Given the description of an element on the screen output the (x, y) to click on. 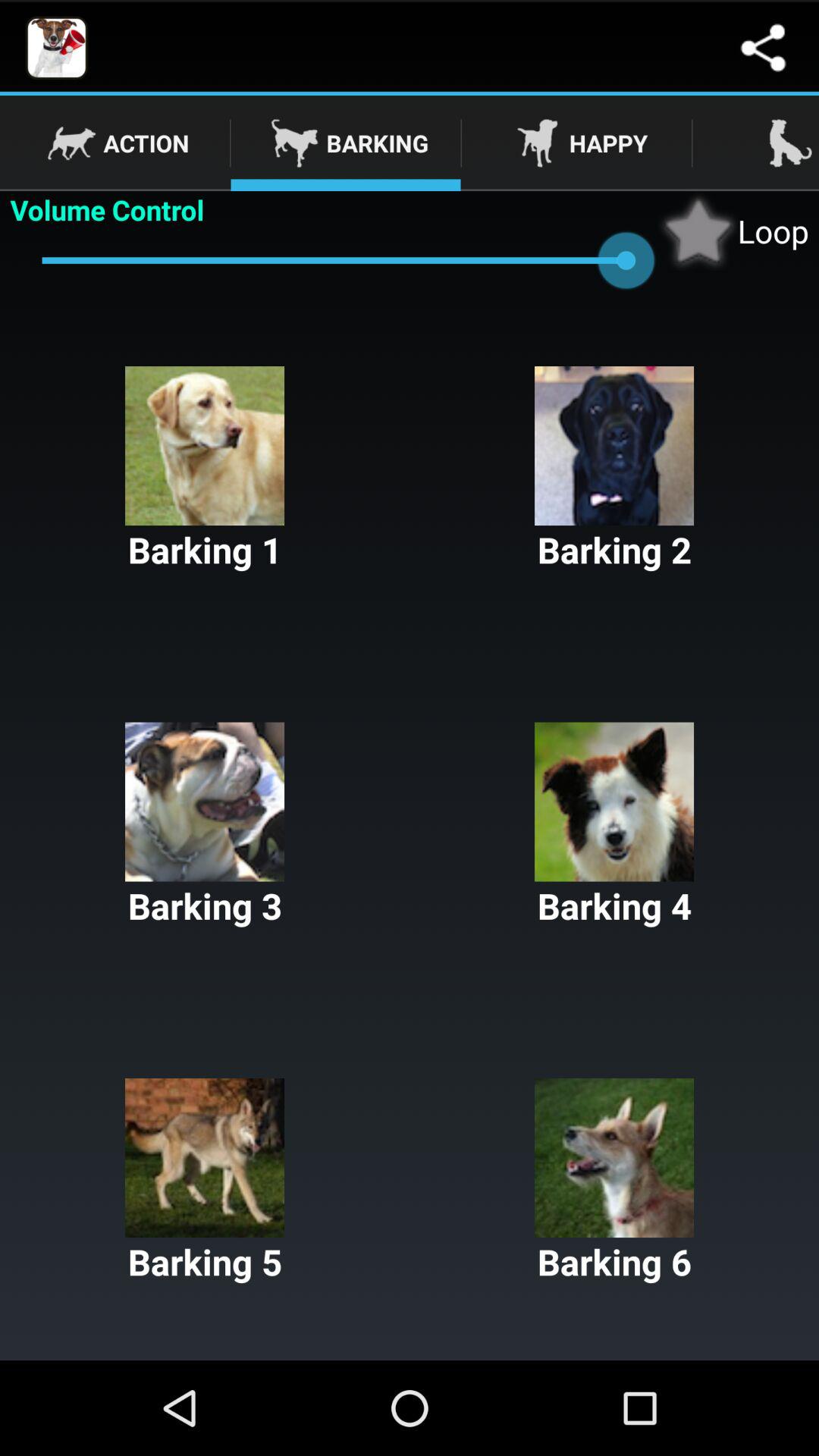
open icon above barking 3 item (204, 469)
